Given the description of an element on the screen output the (x, y) to click on. 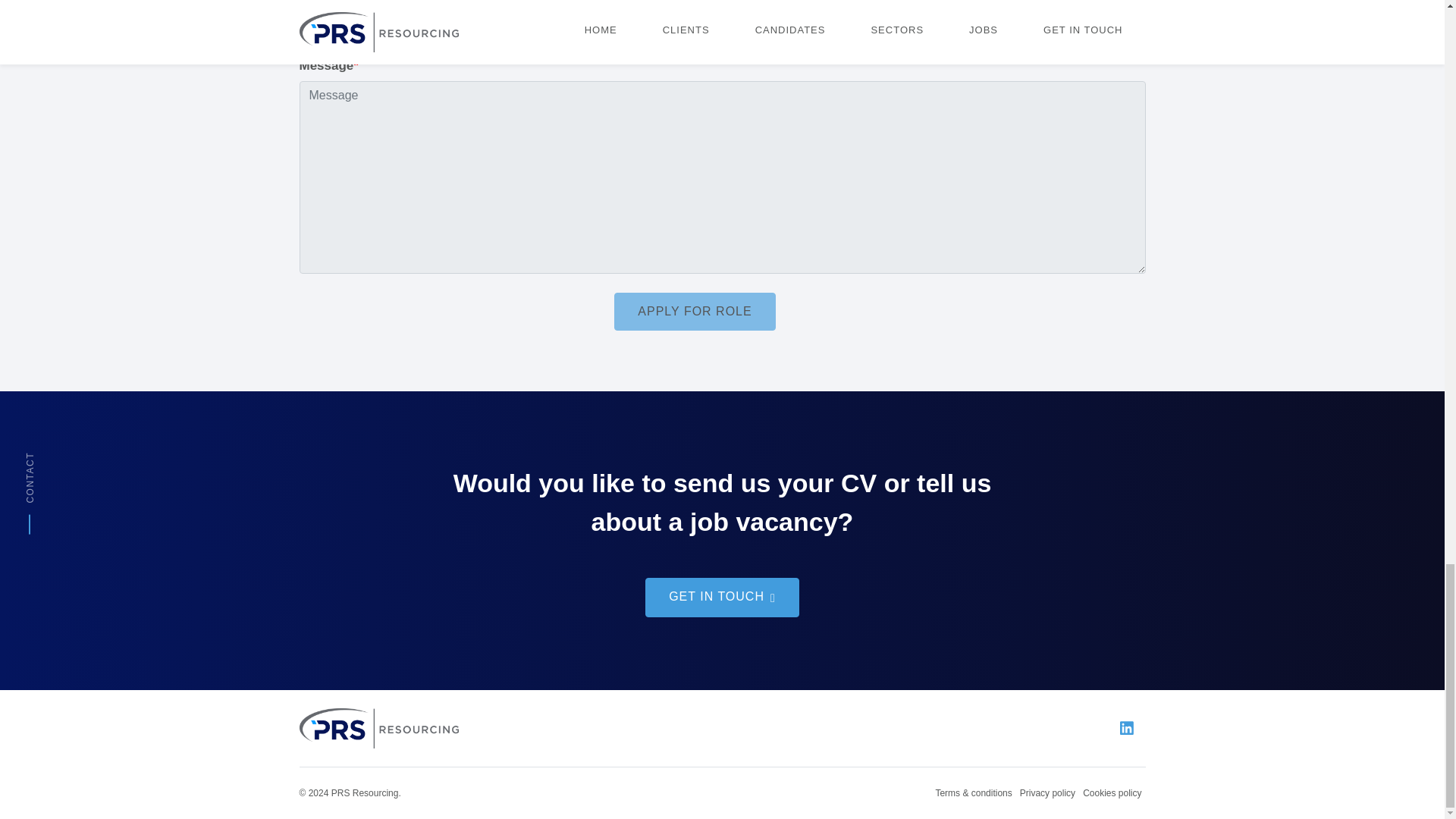
Apply for role (694, 311)
Apply for role (694, 311)
Cookies policy (1112, 792)
Privacy policy (1047, 792)
PRS Resourcing (378, 727)
GET IN TOUCH (722, 597)
